Given the description of an element on the screen output the (x, y) to click on. 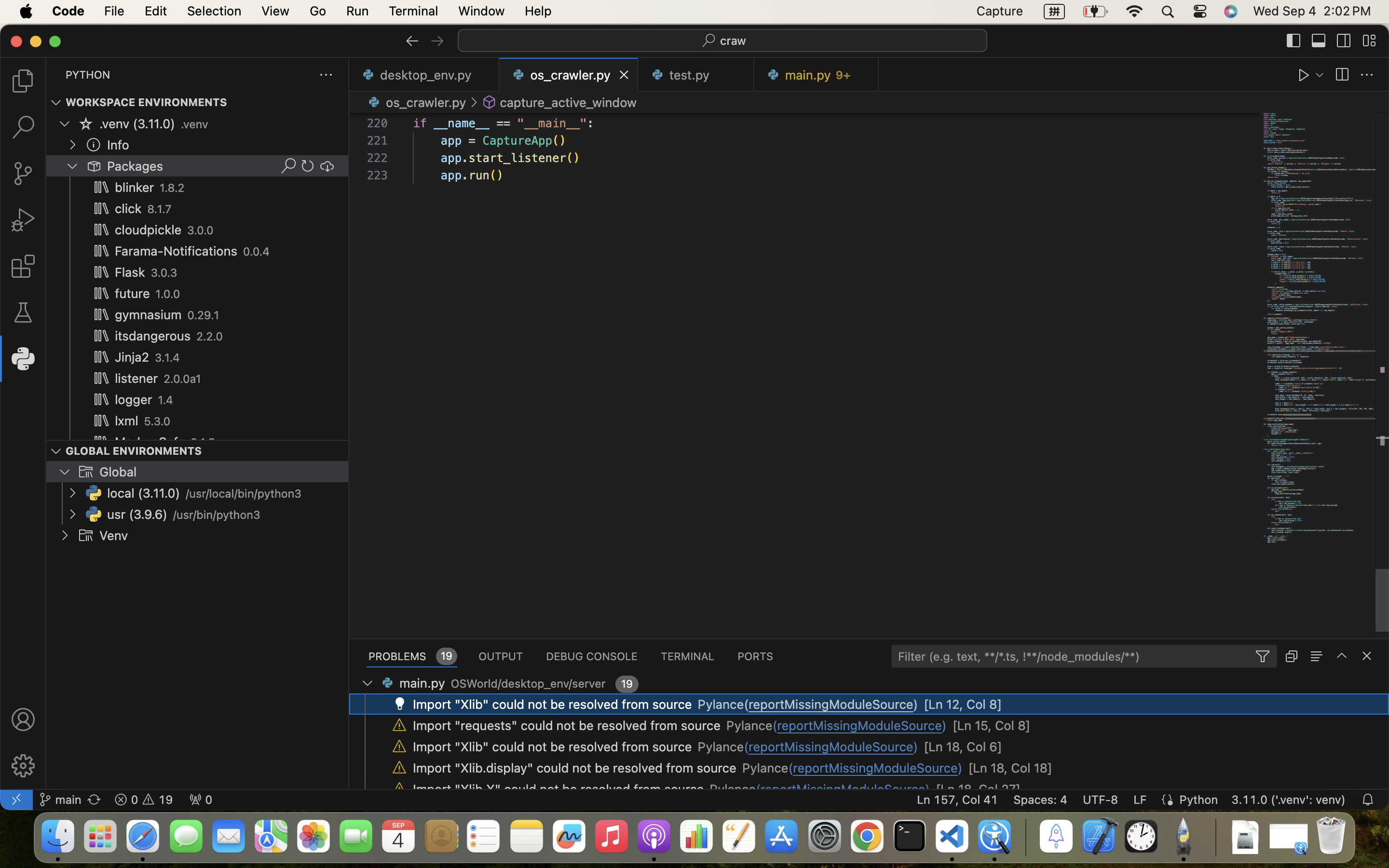
usr (3.9.6) Element type: AXStaticText (137, 514)
 Element type: AXButton (1369, 40)
1.4 Element type: AXStaticText (165, 399)
 Element type: AXStaticText (93, 165)
1 PROBLEMS 19 Element type: AXRadioButton (411, 655)
